Given the description of an element on the screen output the (x, y) to click on. 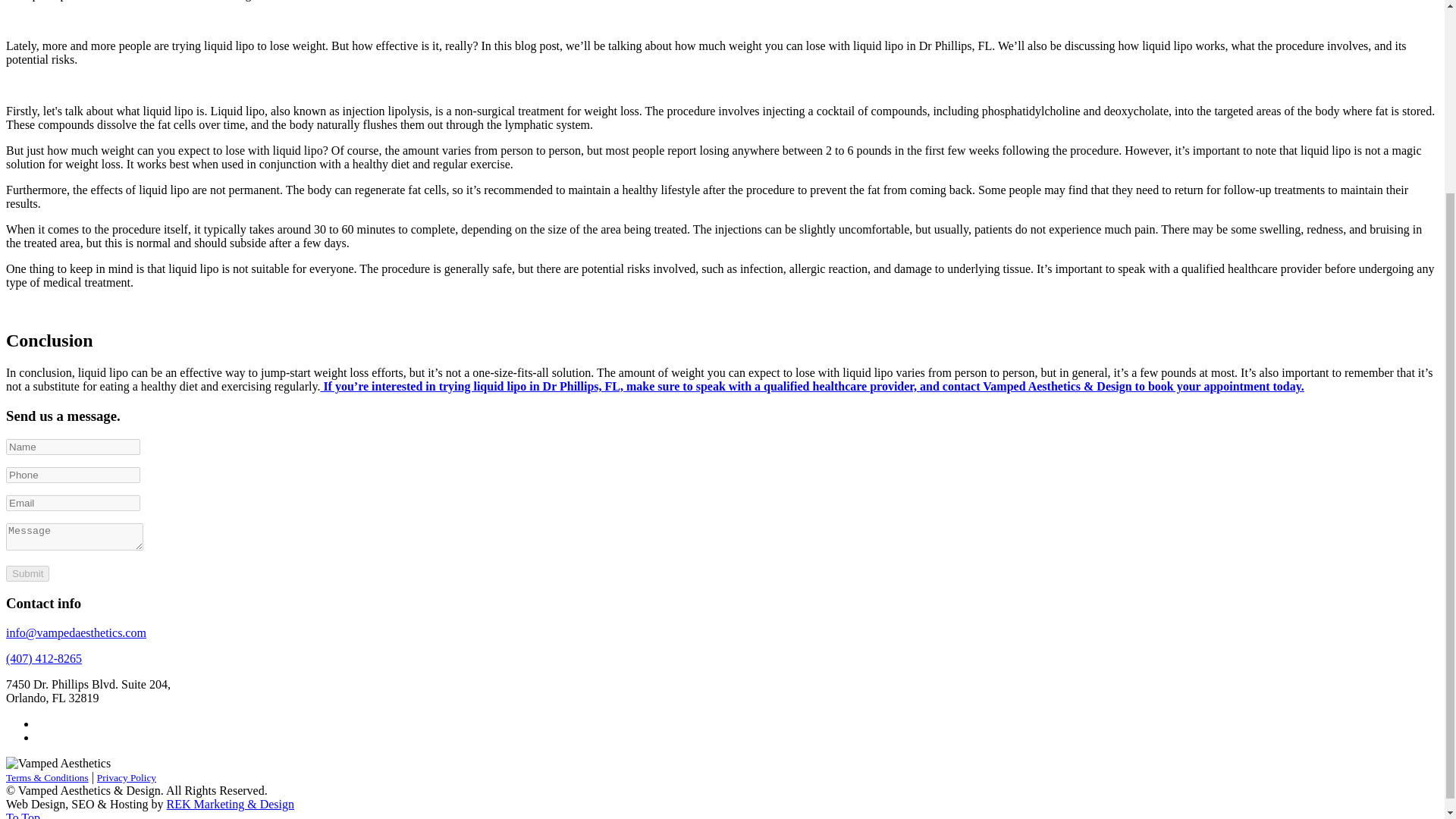
Submit (27, 573)
Submit (27, 573)
Privacy Policy (126, 776)
